Given the description of an element on the screen output the (x, y) to click on. 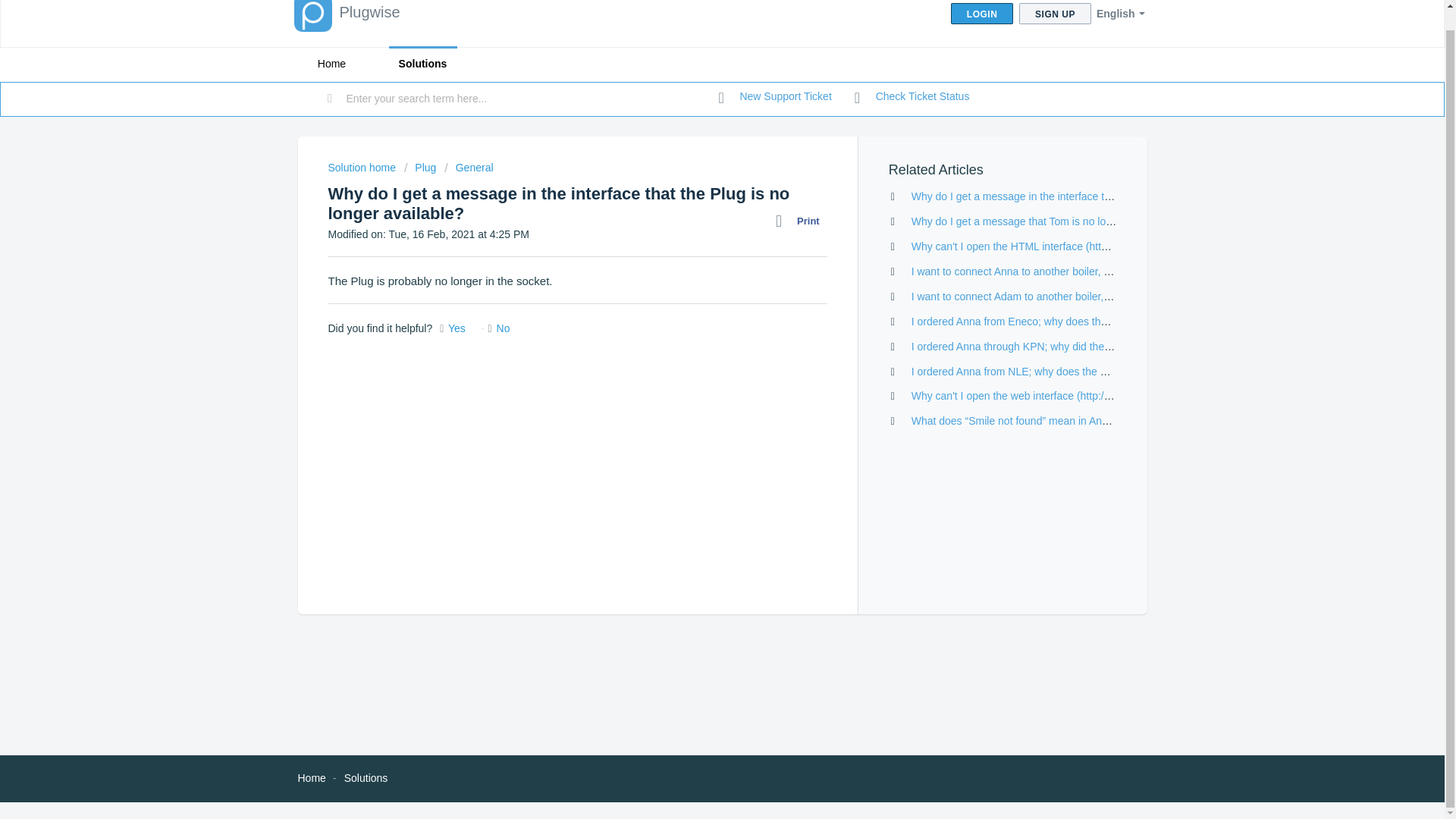
Check ticket status (911, 96)
I want to connect Anna to another boiler, is that possible? (1045, 271)
Solutions (422, 63)
New Support Ticket (775, 96)
LOGIN (981, 13)
Why do I get a message that Tom is no longer available? (1044, 221)
New support ticket (775, 96)
Solutions (365, 777)
I want to connect Adam to another boiler, is that possible? (1046, 296)
SIGN UP (1054, 13)
Print this Article (801, 220)
General (468, 167)
Check Ticket Status (911, 96)
Home (331, 63)
